Given the description of an element on the screen output the (x, y) to click on. 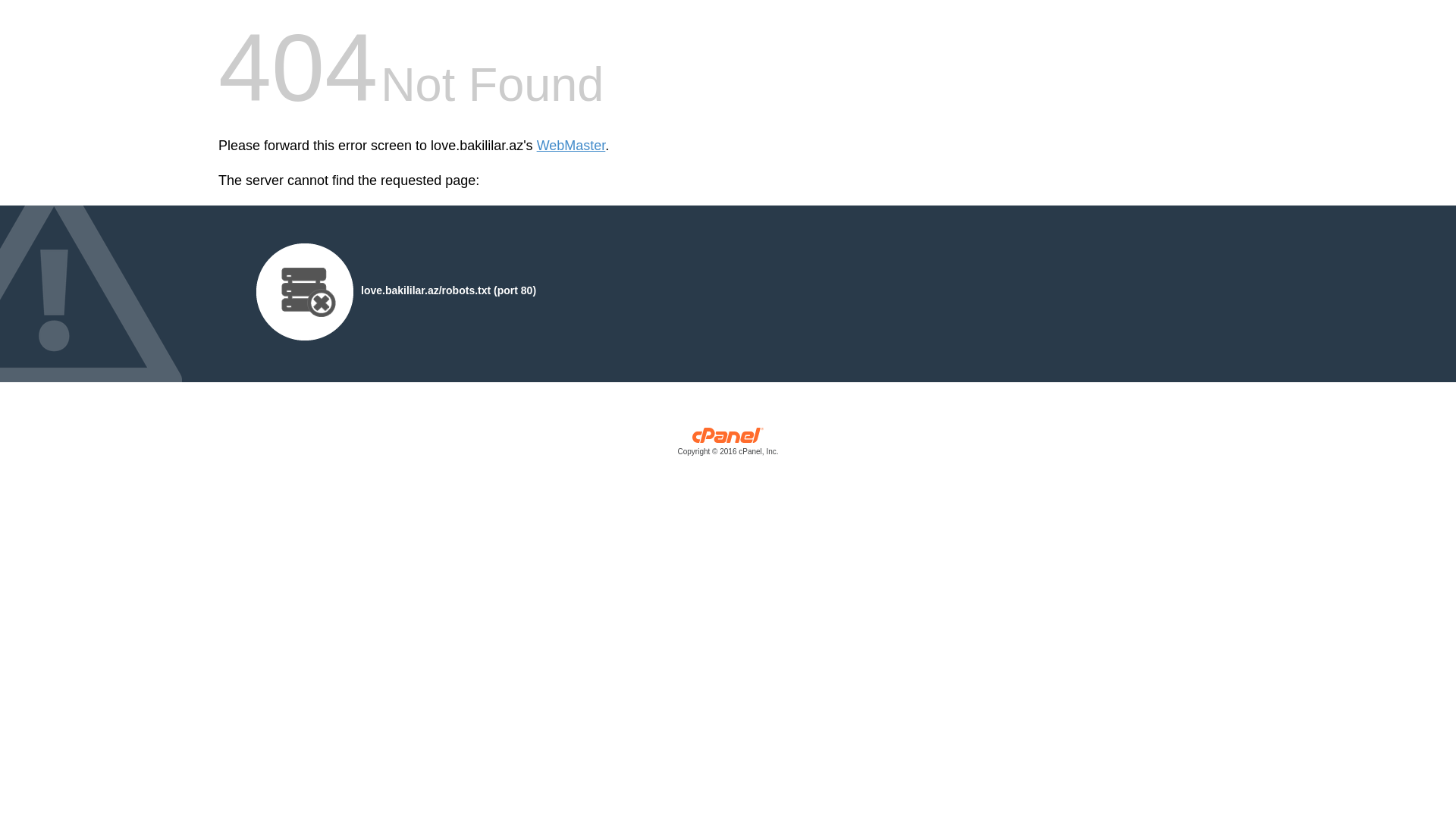
WebMaster Element type: text (570, 145)
